Given the description of an element on the screen output the (x, y) to click on. 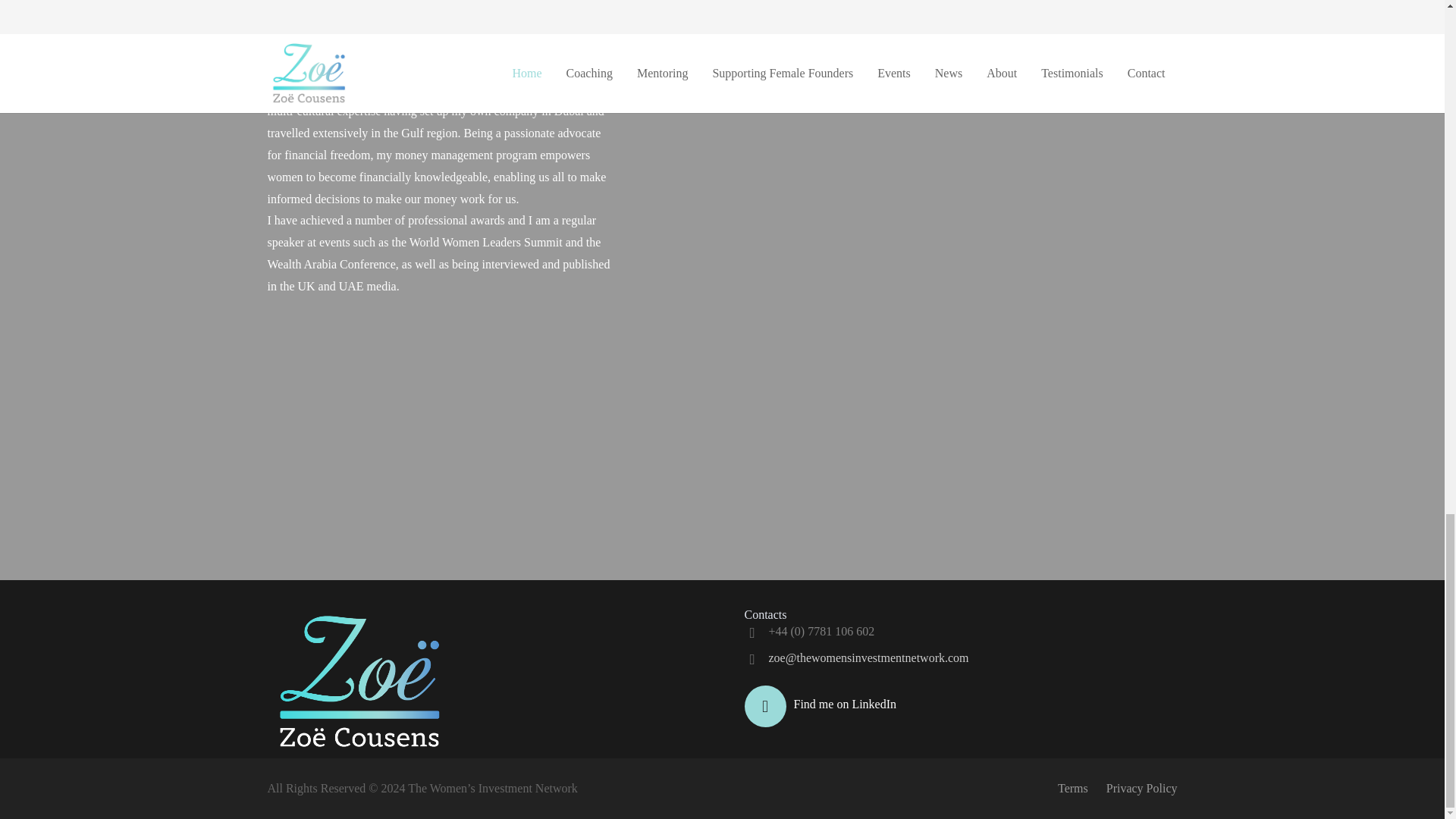
Find me on LinkedIn (844, 703)
LinkedIn (765, 706)
Terms (1072, 788)
Privacy Policy (1141, 788)
